Given the description of an element on the screen output the (x, y) to click on. 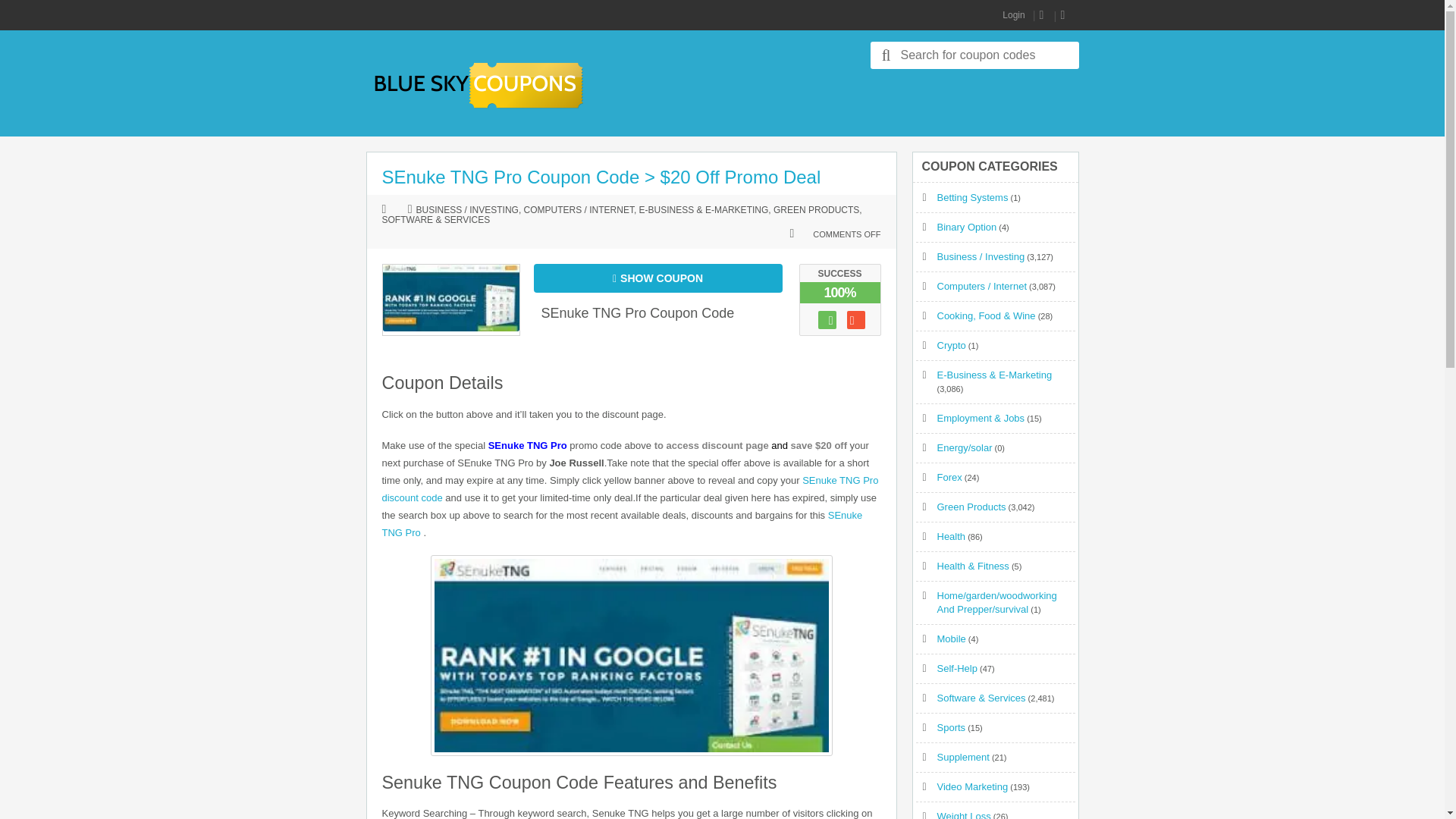
GREEN PRODUCTS (816, 210)
Betting Systems (973, 197)
Crypto (951, 345)
Login (1014, 14)
Forex (949, 477)
SEnuke TNG Pro discount code (630, 489)
Binary Option (967, 226)
SEnuke TNG Pro Coupon Code (638, 313)
SEnuke TNG Pro (622, 523)
Green Products (971, 506)
SHOW COUPON (658, 277)
